Given the description of an element on the screen output the (x, y) to click on. 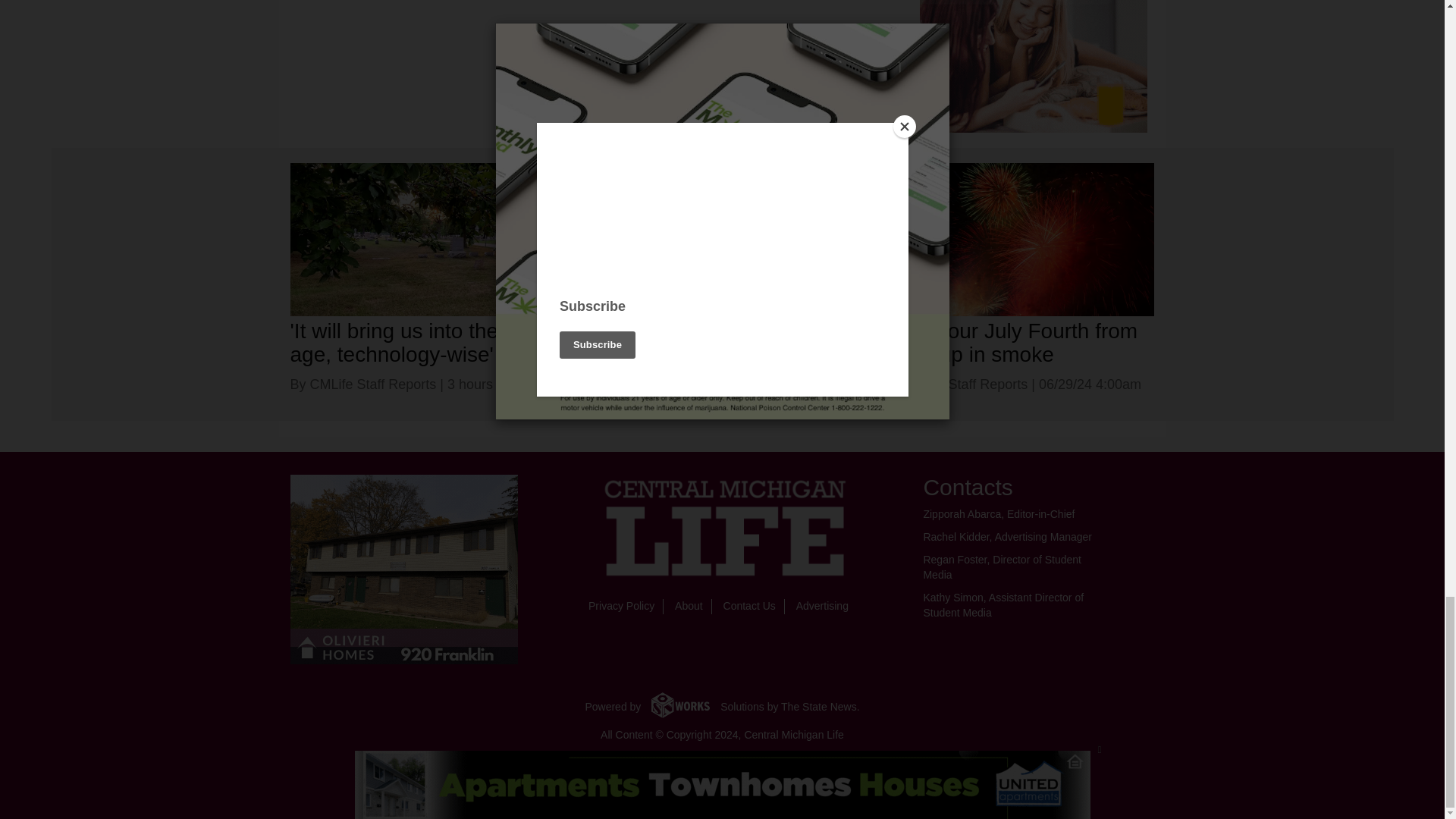
OM-HOUSING.COM (402, 569)
